Given the description of an element on the screen output the (x, y) to click on. 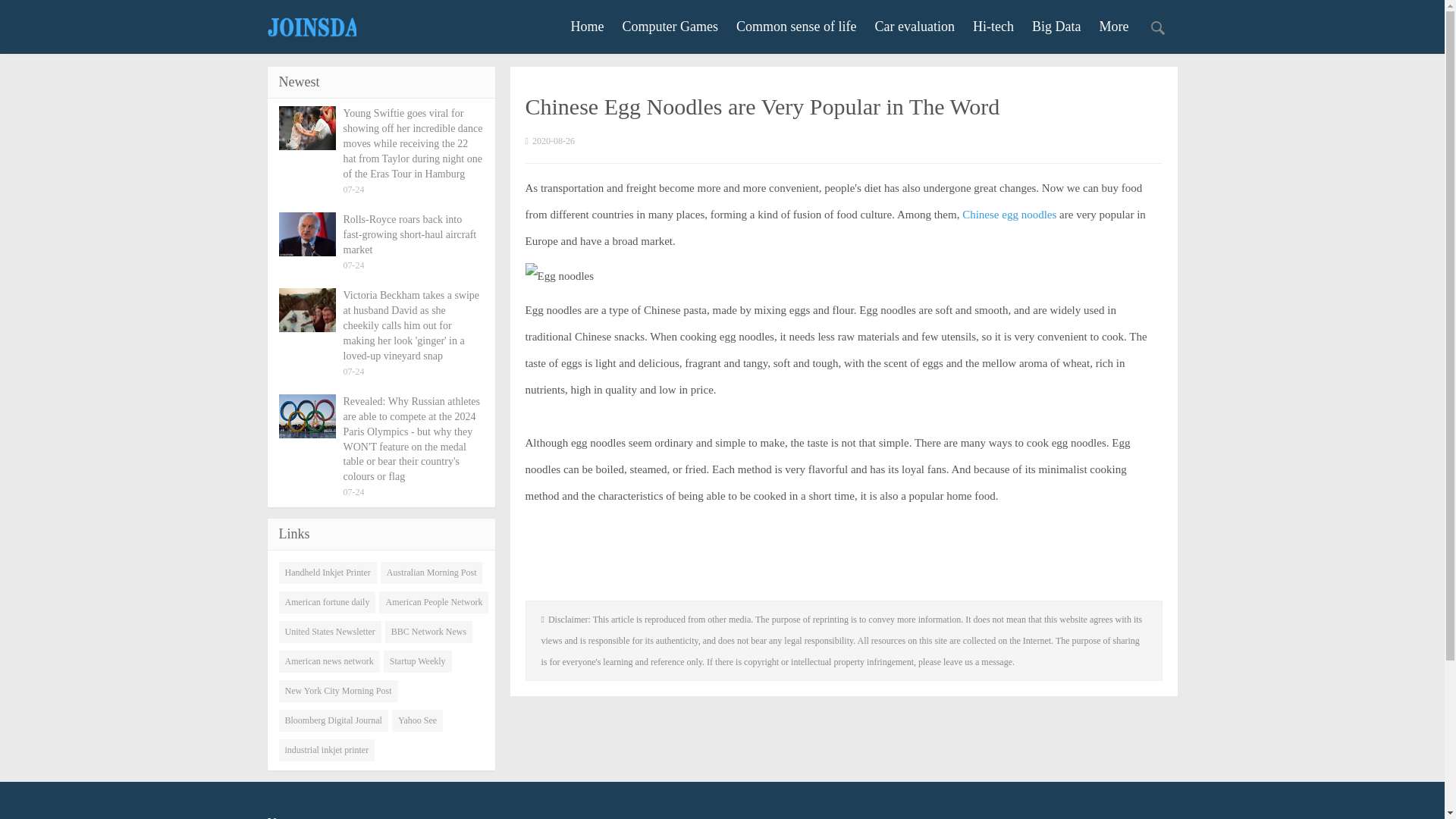
Chinese egg noodles (1009, 214)
United States Newsletter (330, 631)
Startup Weekly (417, 661)
BBC Network News (428, 631)
American news network (329, 661)
Home (587, 26)
Hi-tech (992, 26)
Car evaluation (915, 26)
Common sense of life (796, 26)
Handheld Inkjet Printer (328, 572)
Big Data (1056, 26)
Australian Morning Post (431, 572)
New York City Morning Post (338, 690)
